Given the description of an element on the screen output the (x, y) to click on. 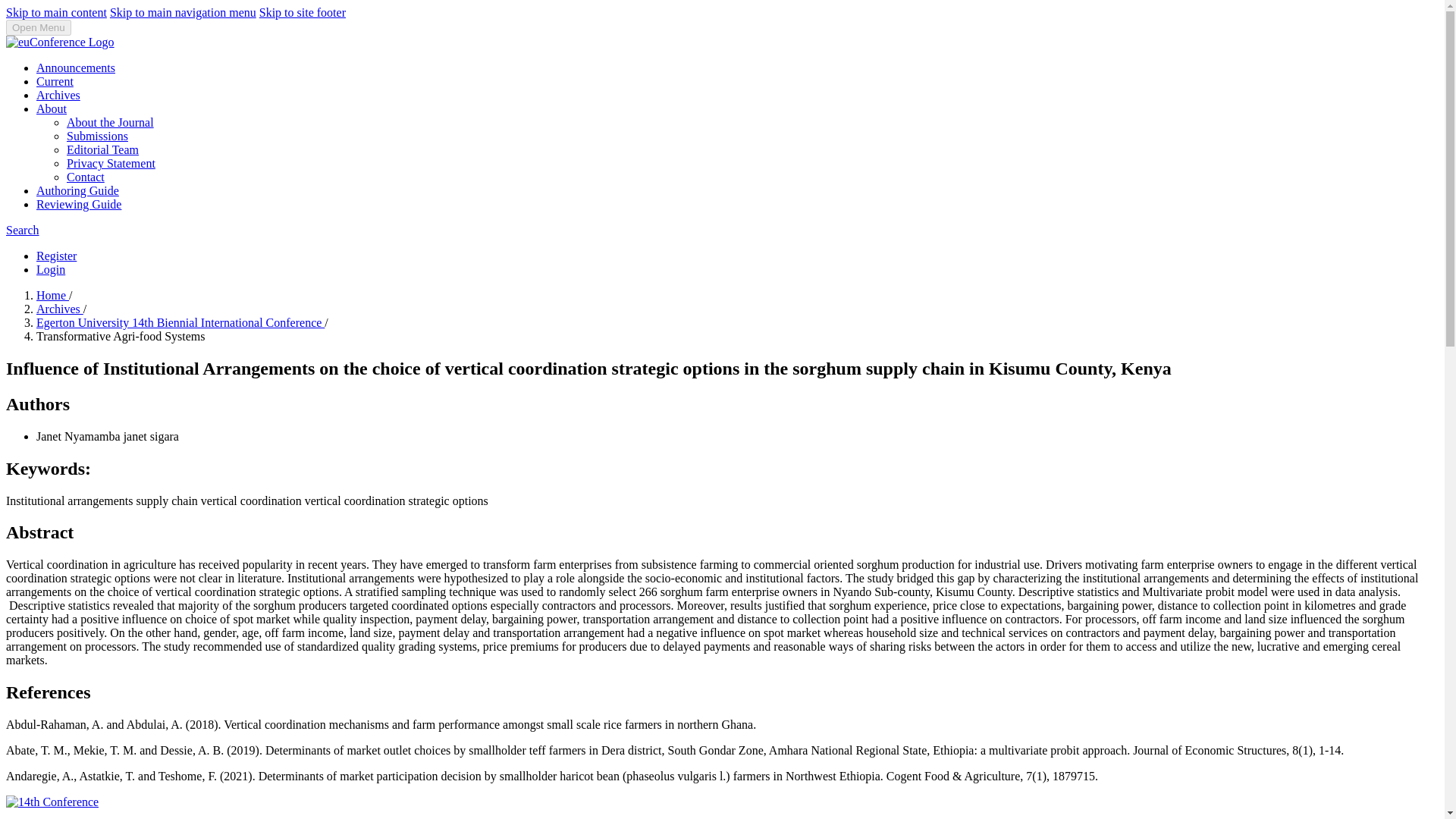
Editorial Team (102, 149)
Search (22, 229)
Current (55, 81)
Reviewing Guide (78, 204)
About (51, 108)
Skip to main content (55, 11)
Skip to main navigation menu (183, 11)
Contact (85, 176)
About the Journal (110, 122)
Login (50, 269)
